Given the description of an element on the screen output the (x, y) to click on. 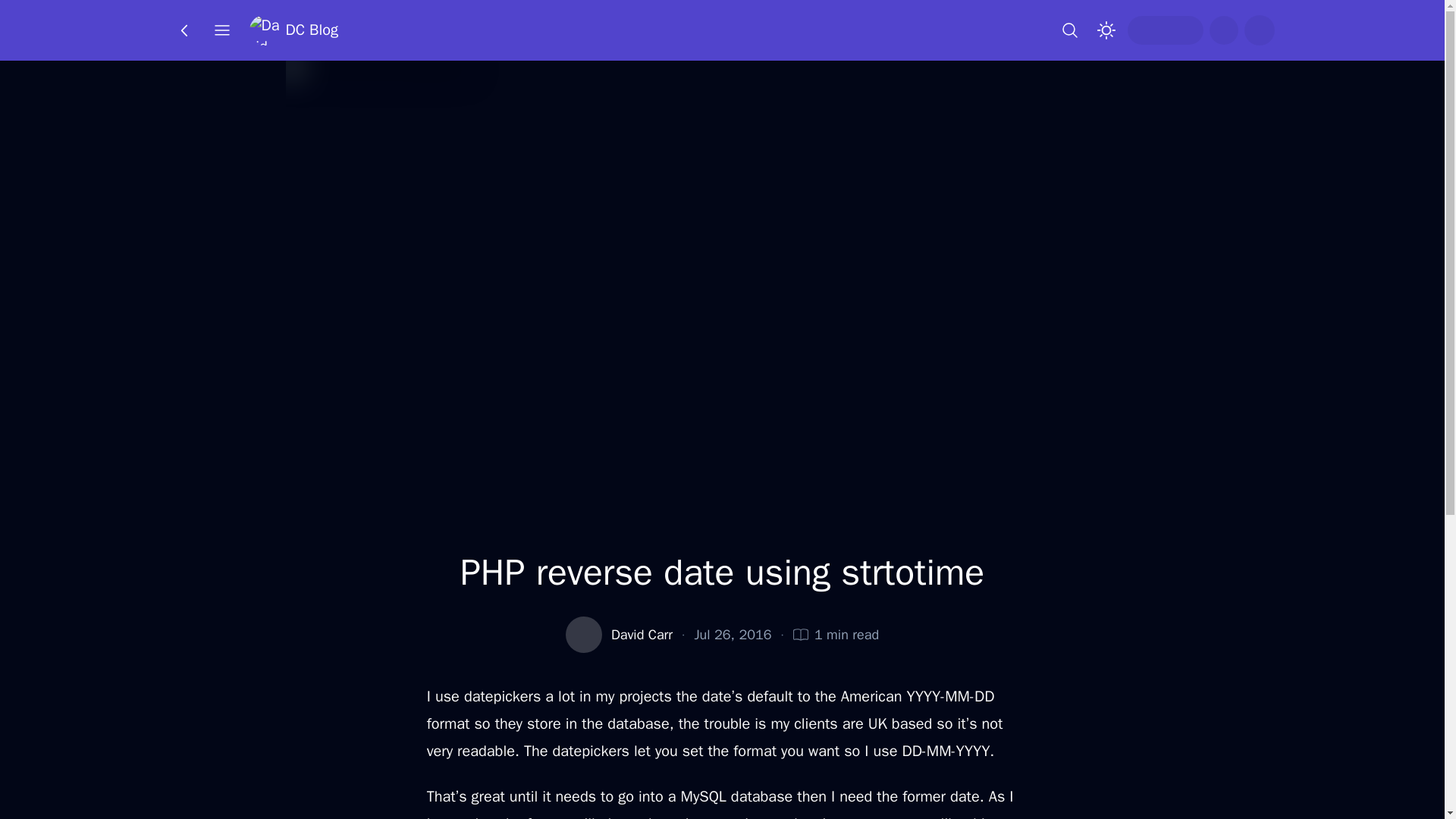
DC Blog (292, 30)
David Carr (641, 634)
Jul 26, 2016 (732, 634)
